Given the description of an element on the screen output the (x, y) to click on. 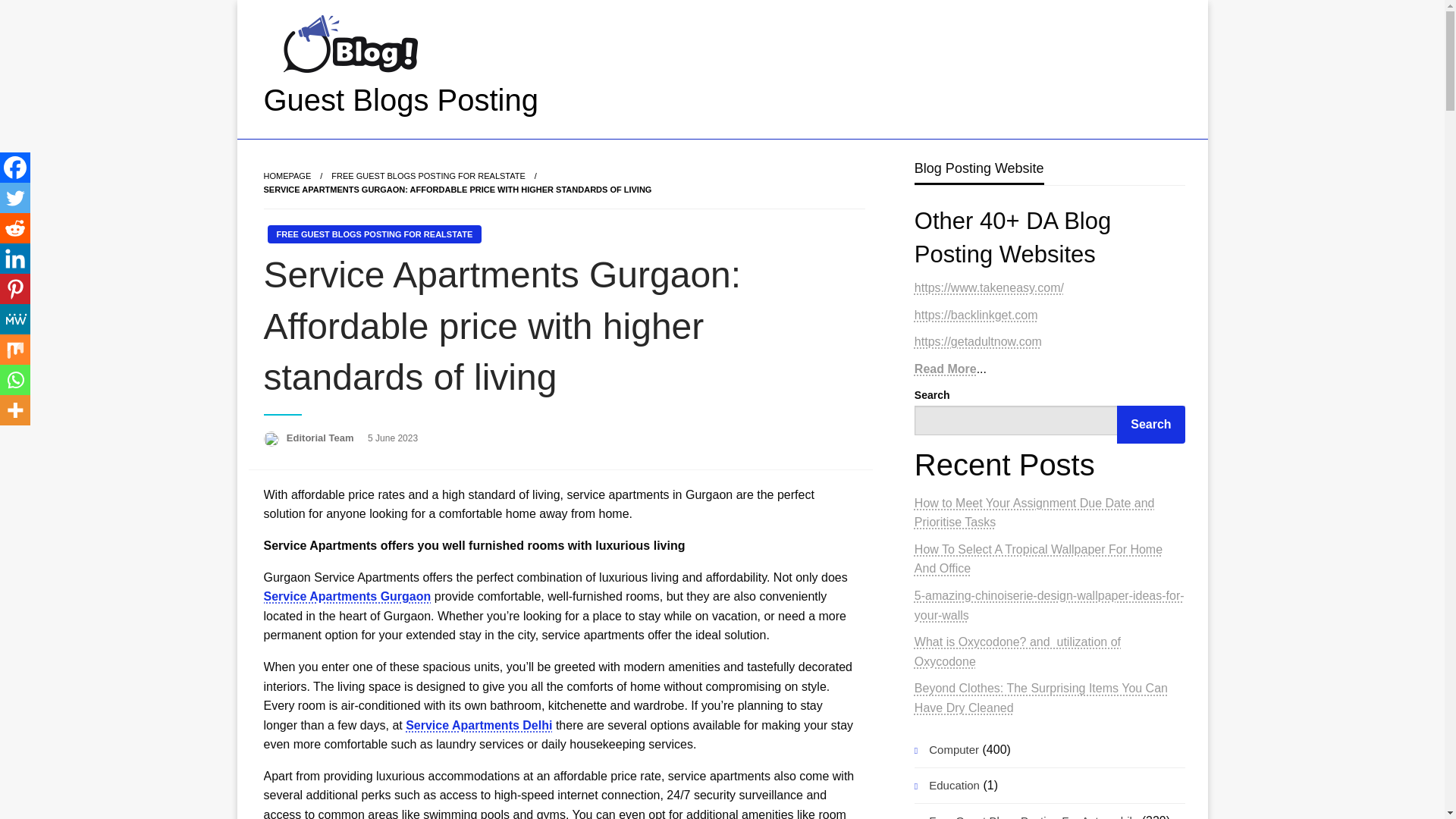
Reddit (15, 227)
Facebook (15, 167)
Twitter (15, 197)
Guest Blogs Posting (400, 100)
Free Guest Blogs Posting For Realstate (428, 175)
Linkedin (15, 258)
Pinterest (15, 288)
5 June 2023 (392, 438)
HOMEPAGE (287, 175)
Service Apartments Gurgaon (346, 595)
Service Apartments Delhi (478, 725)
Homepage (287, 175)
Editorial Team (321, 437)
FREE GUEST BLOGS POSTING FOR REALSTATE (428, 175)
